Given the description of an element on the screen output the (x, y) to click on. 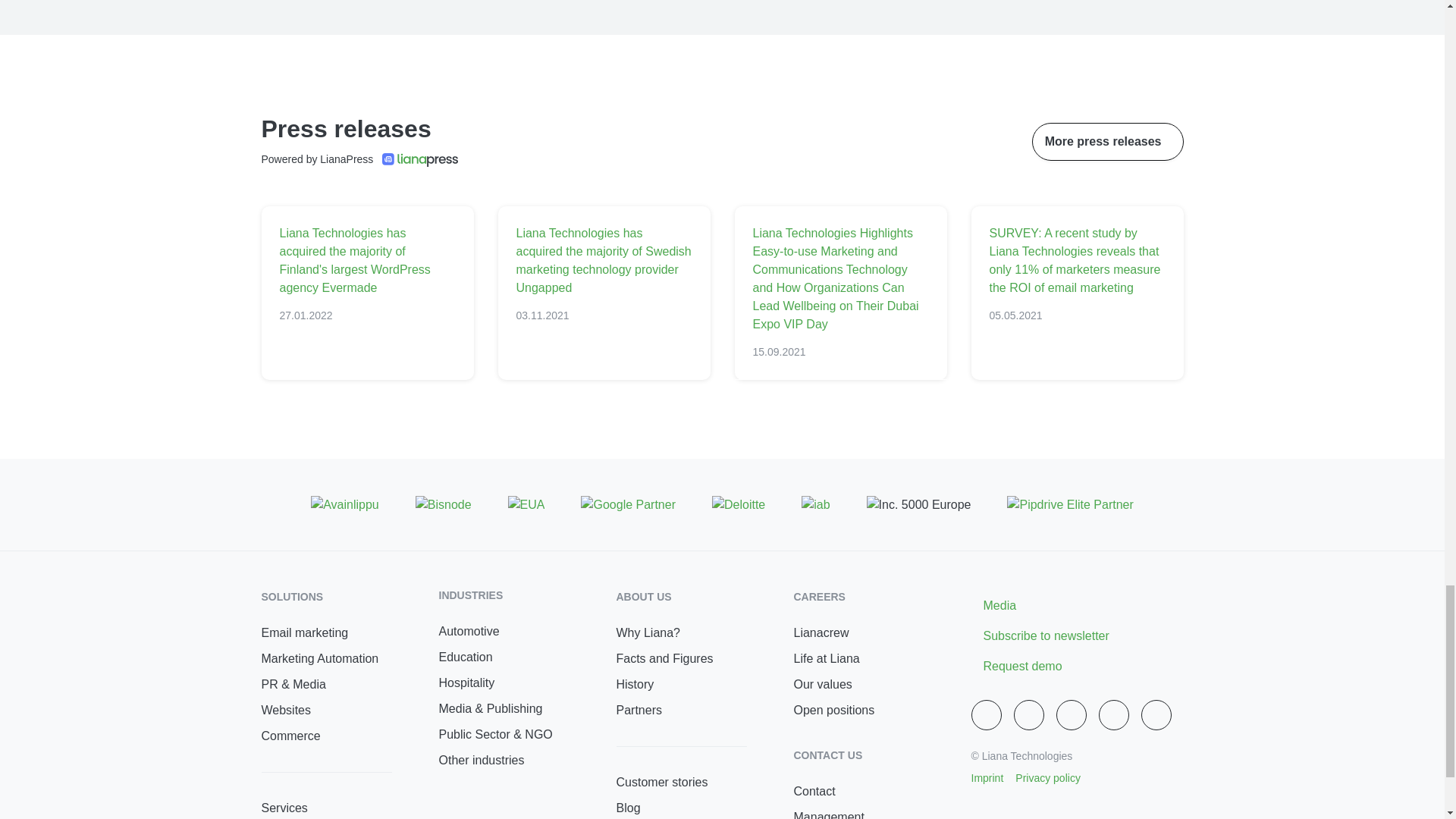
Bisnode (442, 504)
Deloitte (738, 504)
Avainlippu (344, 504)
Pipedrive Elite Partner (1069, 504)
iab (815, 504)
EUA (526, 504)
Google Partner (627, 504)
